Given the description of an element on the screen output the (x, y) to click on. 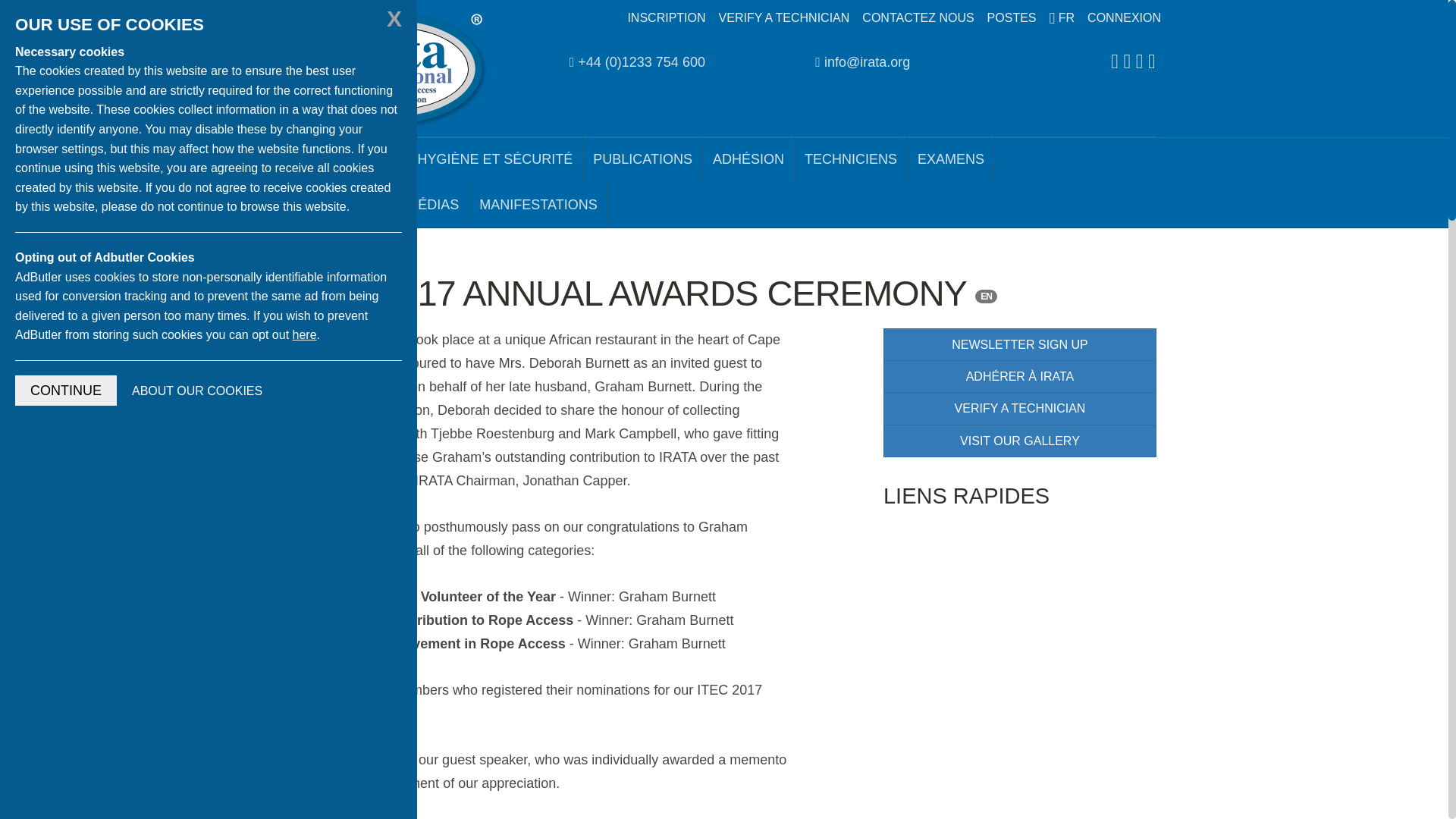
VERIFY A TECHNICIAN (1019, 408)
PUBLICATIONS (643, 158)
FR (1061, 17)
CONTACTEZ NOUS (917, 17)
English (986, 296)
VERIFY A TECHNICIAN (784, 17)
TECHNICIENS (850, 158)
VISIT OUR GALLERY (1019, 441)
EXAMENS (950, 158)
POSTES (1011, 17)
MANIFESTATIONS (537, 204)
CONNEXION (1123, 17)
INSCRIPTION (665, 17)
NEWSLETTER SIGN UP (1019, 344)
